Given the description of an element on the screen output the (x, y) to click on. 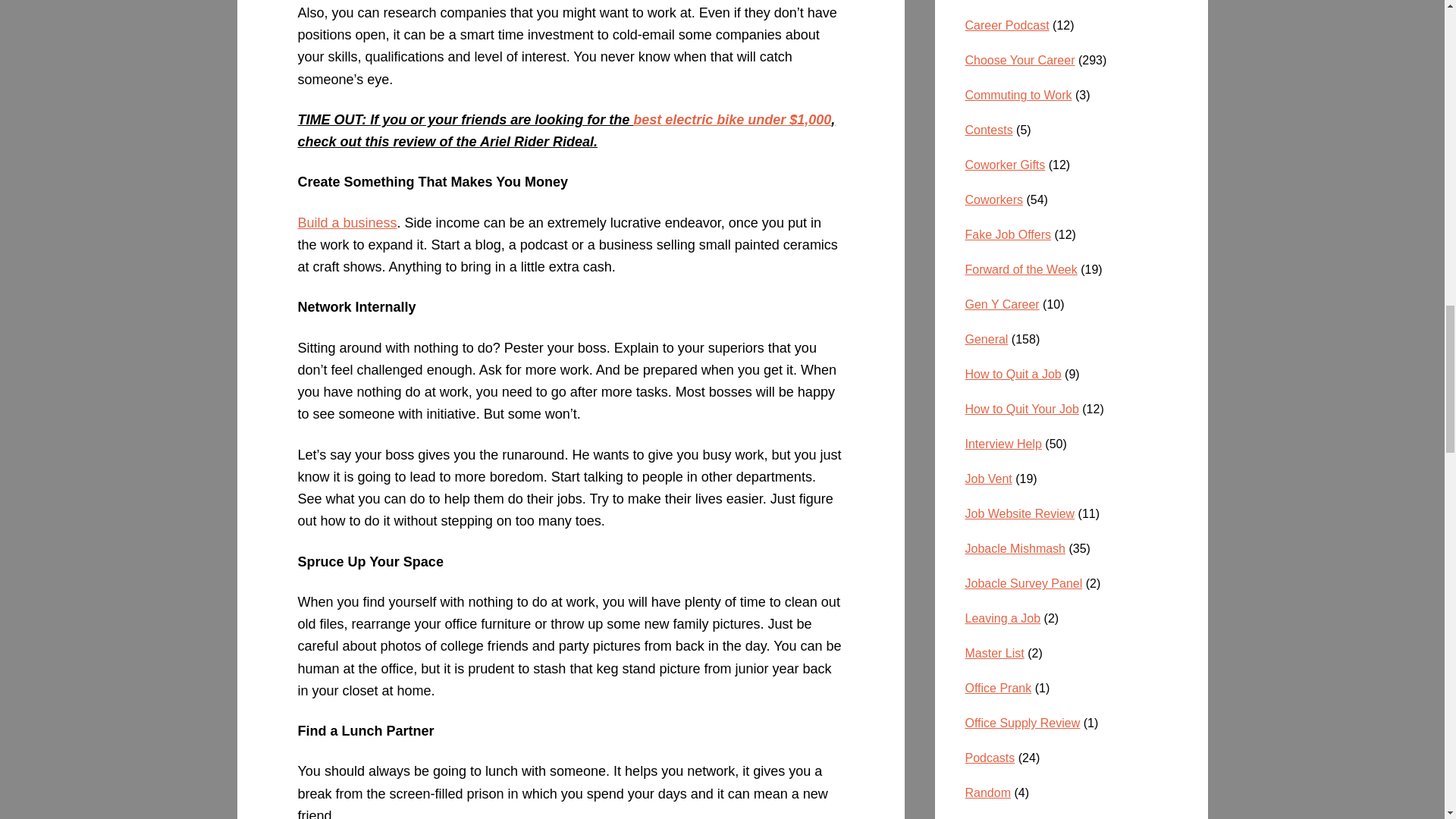
Build a business (346, 222)
